Given the description of an element on the screen output the (x, y) to click on. 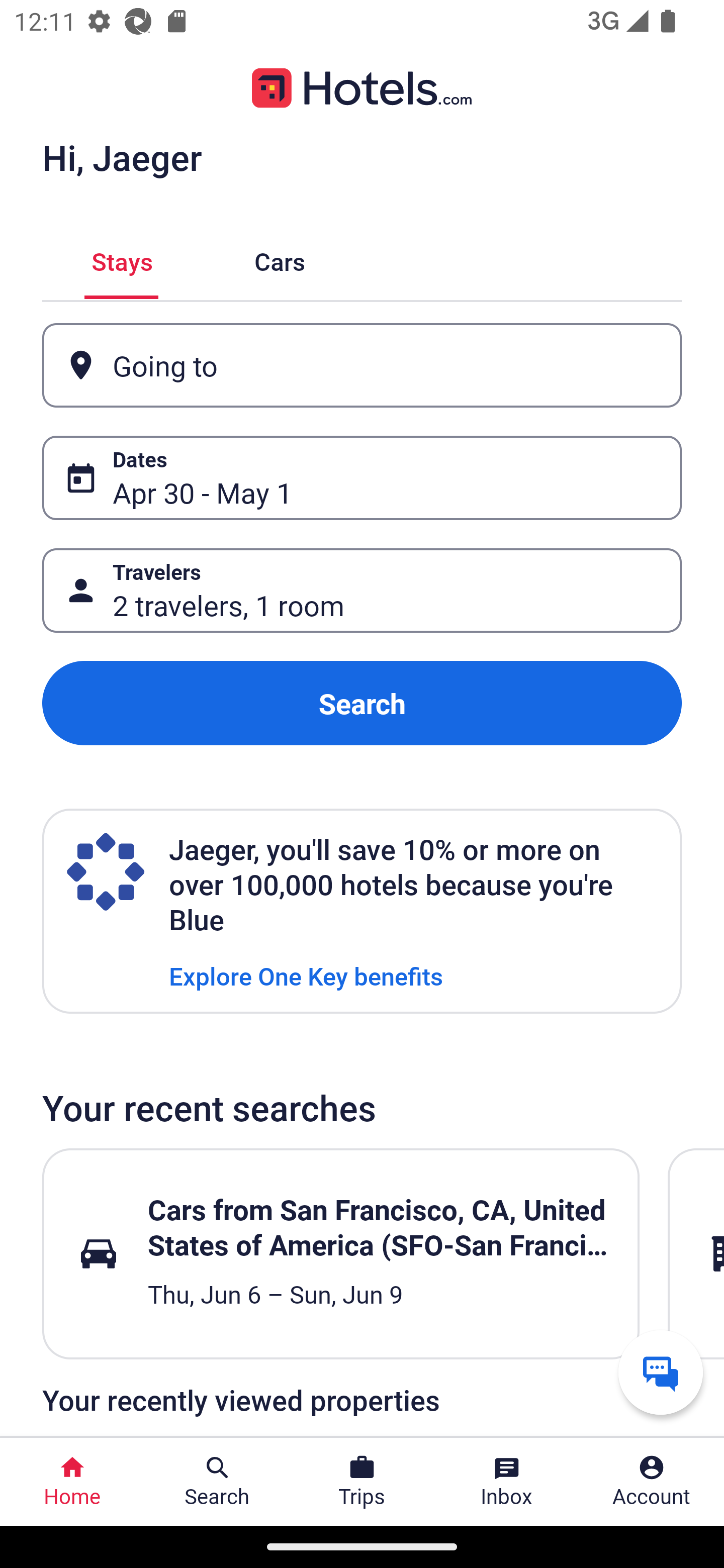
Hi, Jaeger (121, 156)
Cars (279, 259)
Going to Button (361, 365)
Dates Button Apr 30 - May 1 (361, 477)
Travelers Button 2 travelers, 1 room (361, 590)
Search (361, 702)
Get help from a virtual agent (660, 1371)
Search Search Button (216, 1481)
Trips Trips Button (361, 1481)
Inbox Inbox Button (506, 1481)
Account Profile. Button (651, 1481)
